Given the description of an element on the screen output the (x, y) to click on. 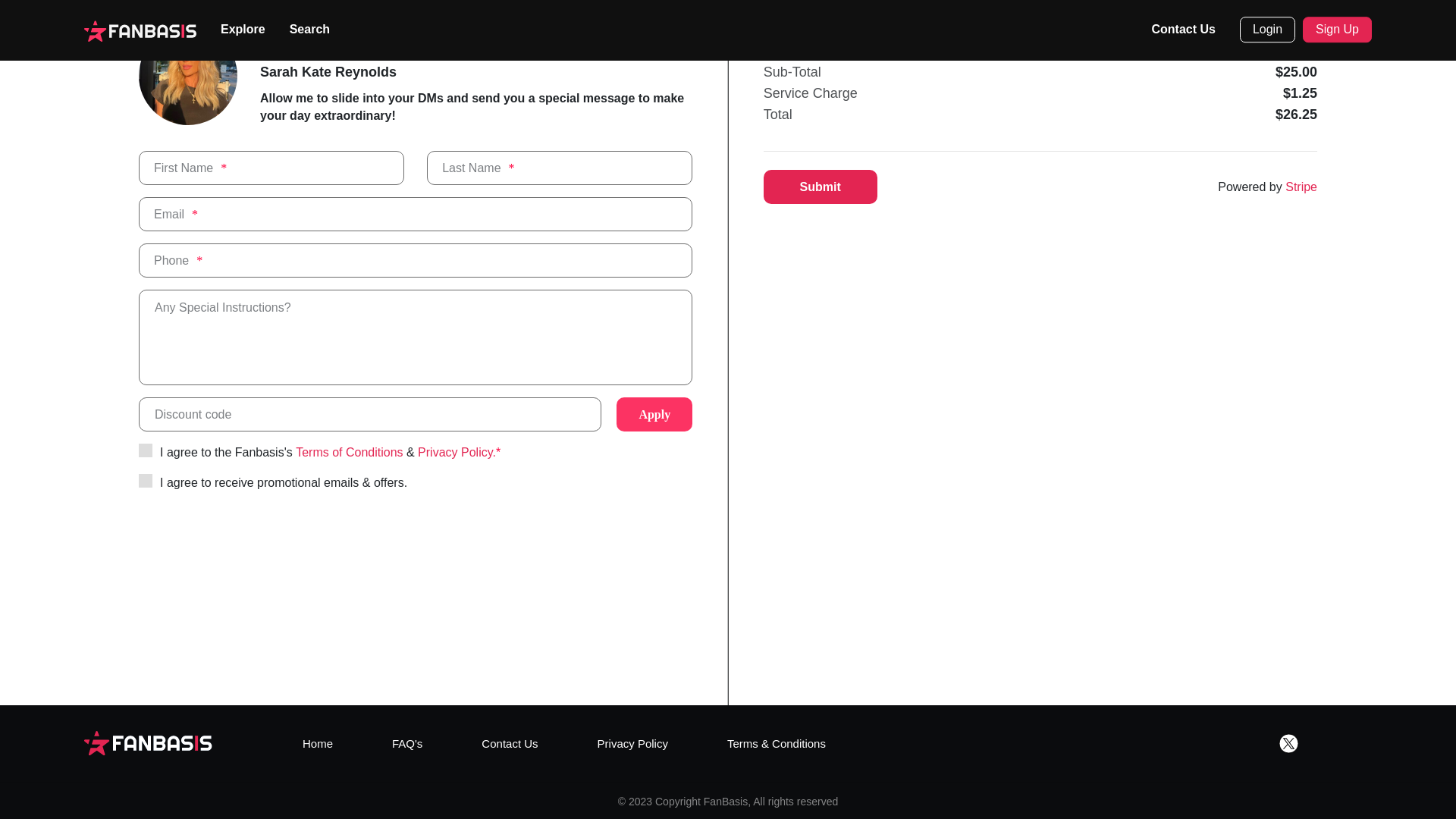
Apply (654, 414)
Submit (819, 186)
FAQ's (406, 743)
Login (1267, 29)
Search (309, 30)
Privacy Policy (632, 743)
Home (317, 743)
Terms of Conditions (349, 452)
Contact Us (509, 743)
Explore (242, 30)
